Given the description of an element on the screen output the (x, y) to click on. 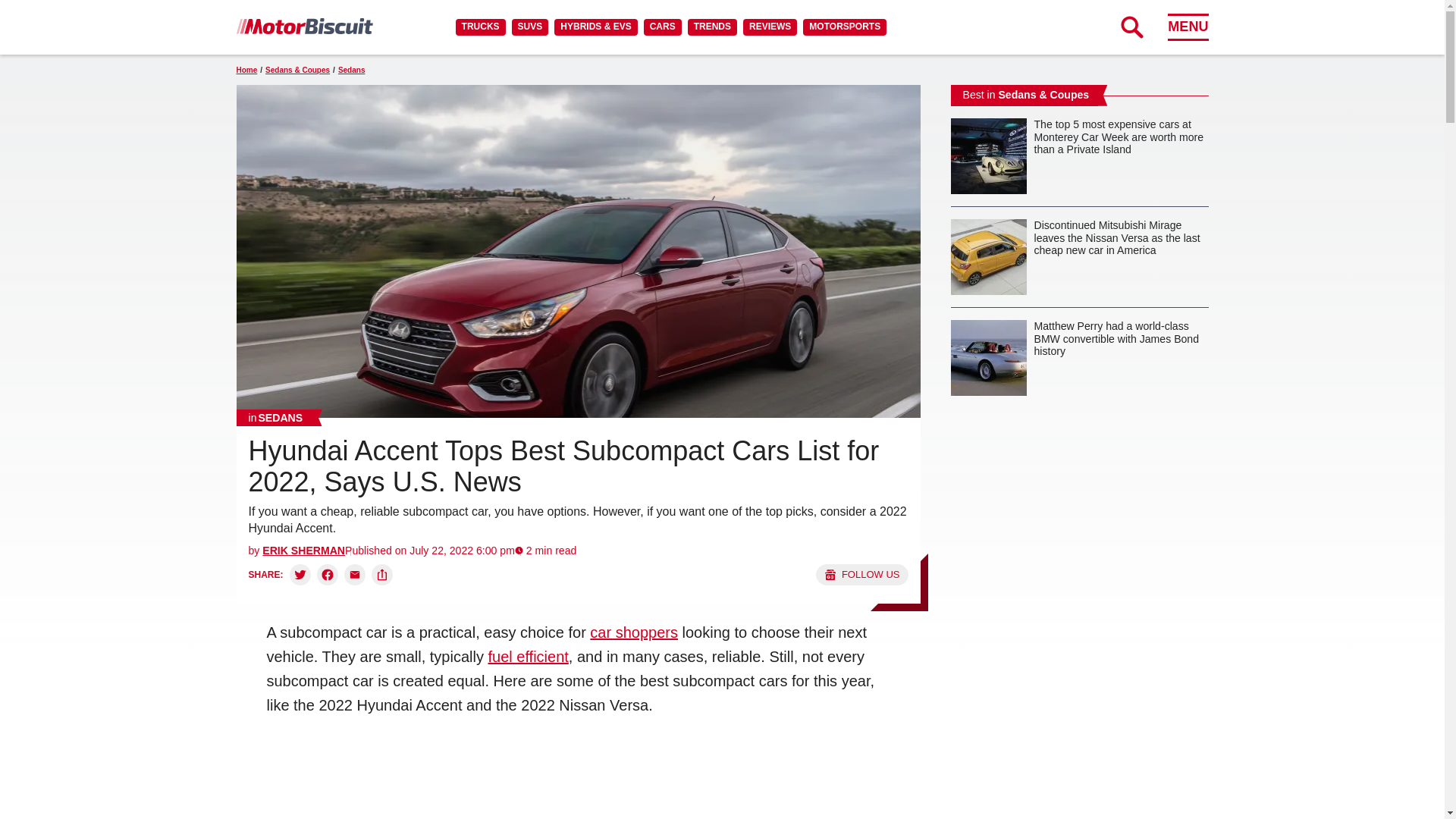
MENU (1187, 26)
Sedans (275, 417)
Follow us on Google News (861, 574)
MotorBiscuit (303, 26)
TRENDS (711, 26)
CARS (662, 26)
Expand Search (1131, 26)
REVIEWS (769, 26)
MOTORSPORTS (844, 26)
